Given the description of an element on the screen output the (x, y) to click on. 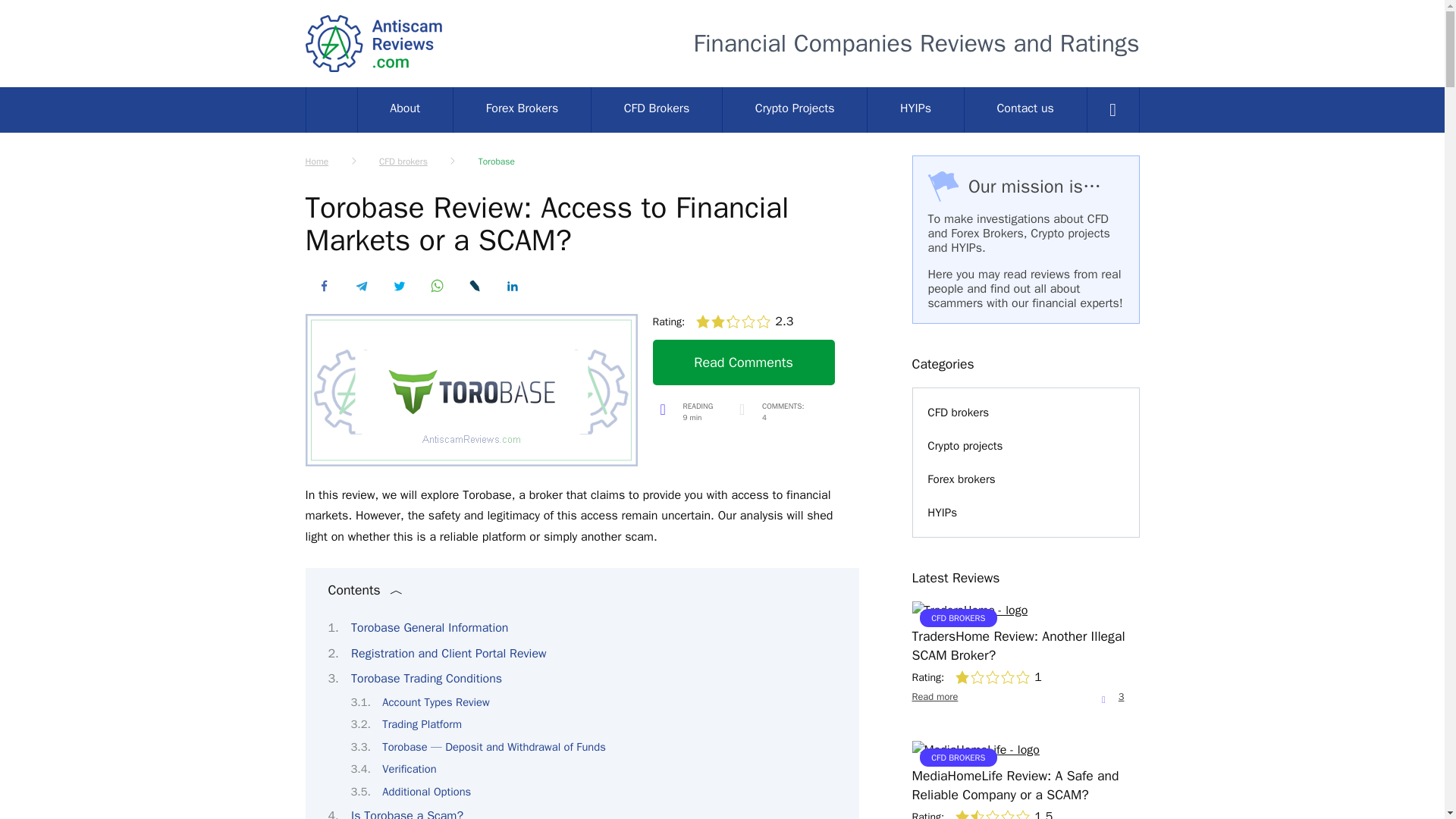
Is Torobase a Scam? (406, 813)
Registration and Client Portal Review (448, 653)
Home (316, 161)
About (405, 109)
Trading Platform (421, 724)
Read Comments (772, 415)
CFD brokers (735, 363)
Crypto Projects (403, 161)
Torobase Trading Conditions (794, 109)
